Given the description of an element on the screen output the (x, y) to click on. 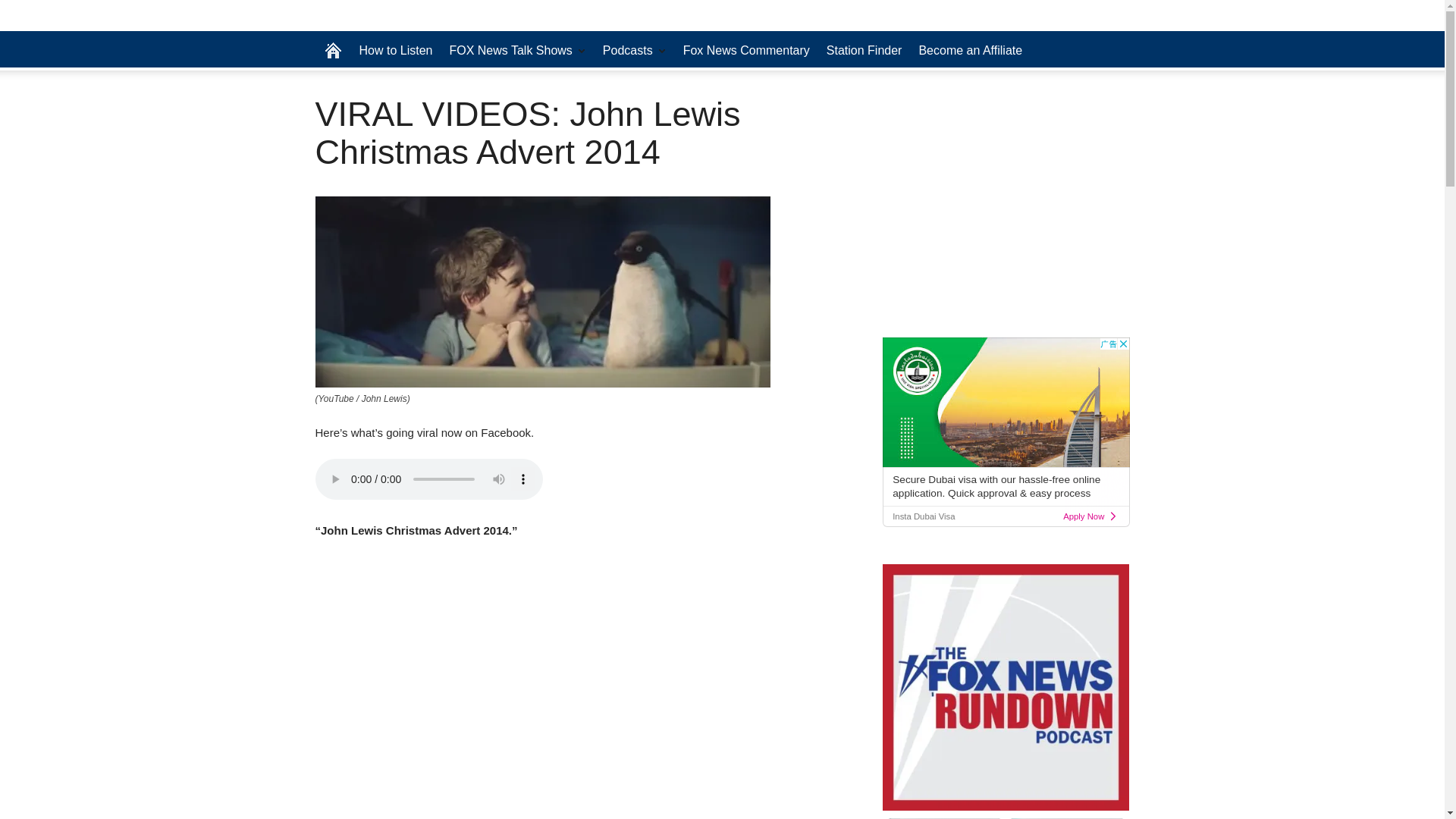
Home Page (332, 50)
